Given the description of an element on the screen output the (x, y) to click on. 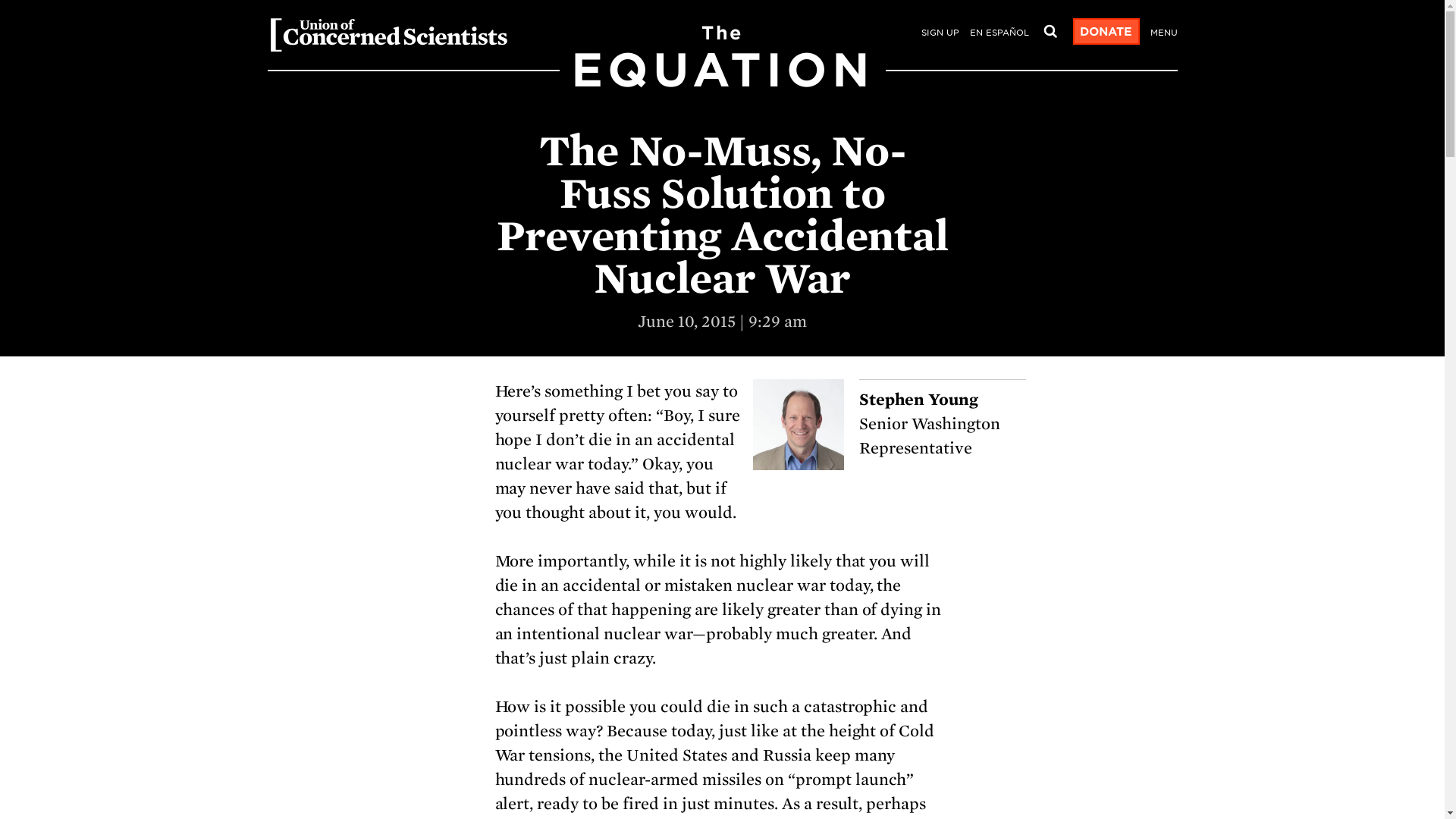
SIGN UP (939, 32)
MENU (1163, 32)
DONATE (1104, 31)
